Given the description of an element on the screen output the (x, y) to click on. 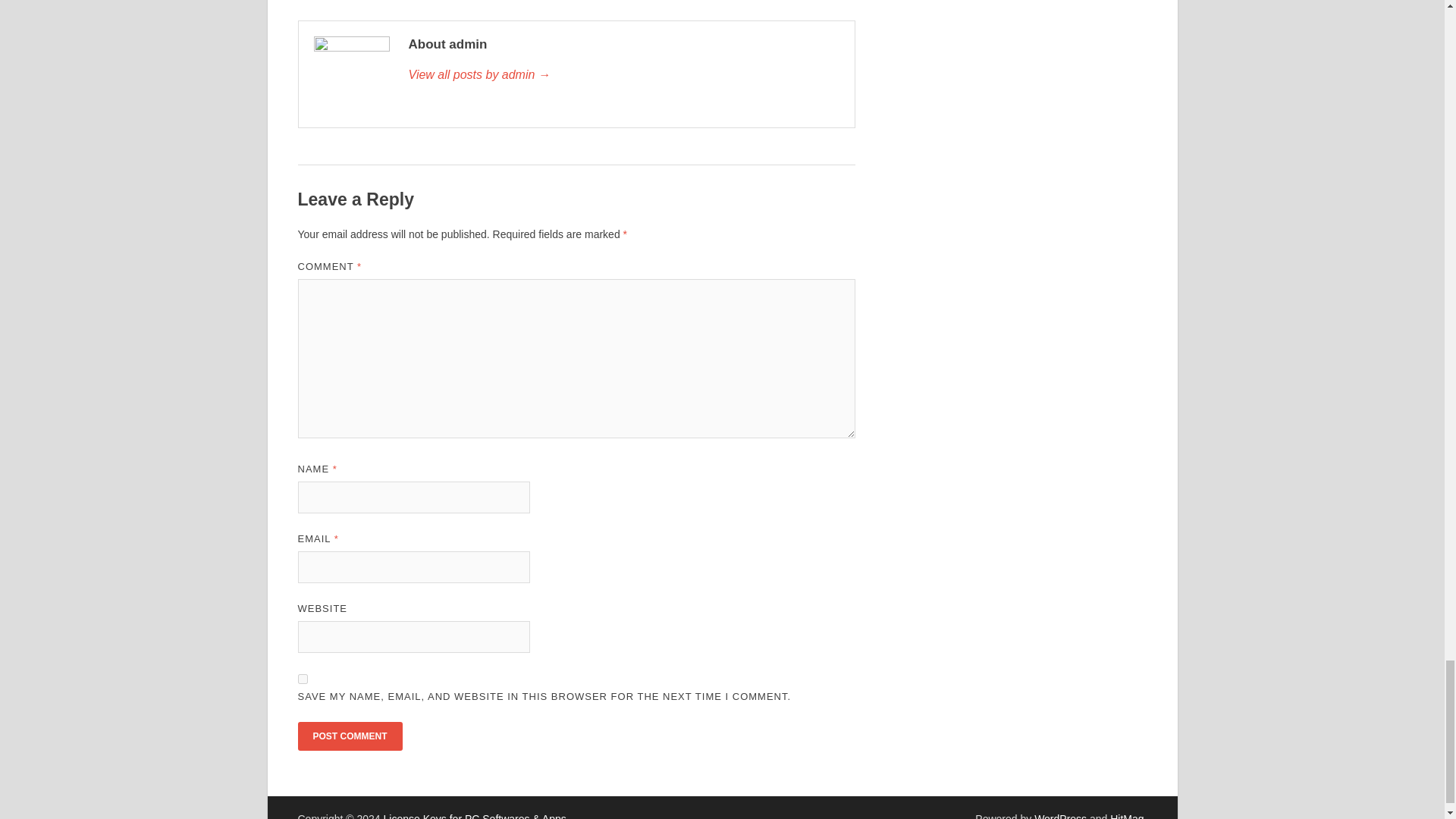
admin (622, 75)
yes (302, 678)
Post Comment (349, 736)
Post Comment (349, 736)
